Given the description of an element on the screen output the (x, y) to click on. 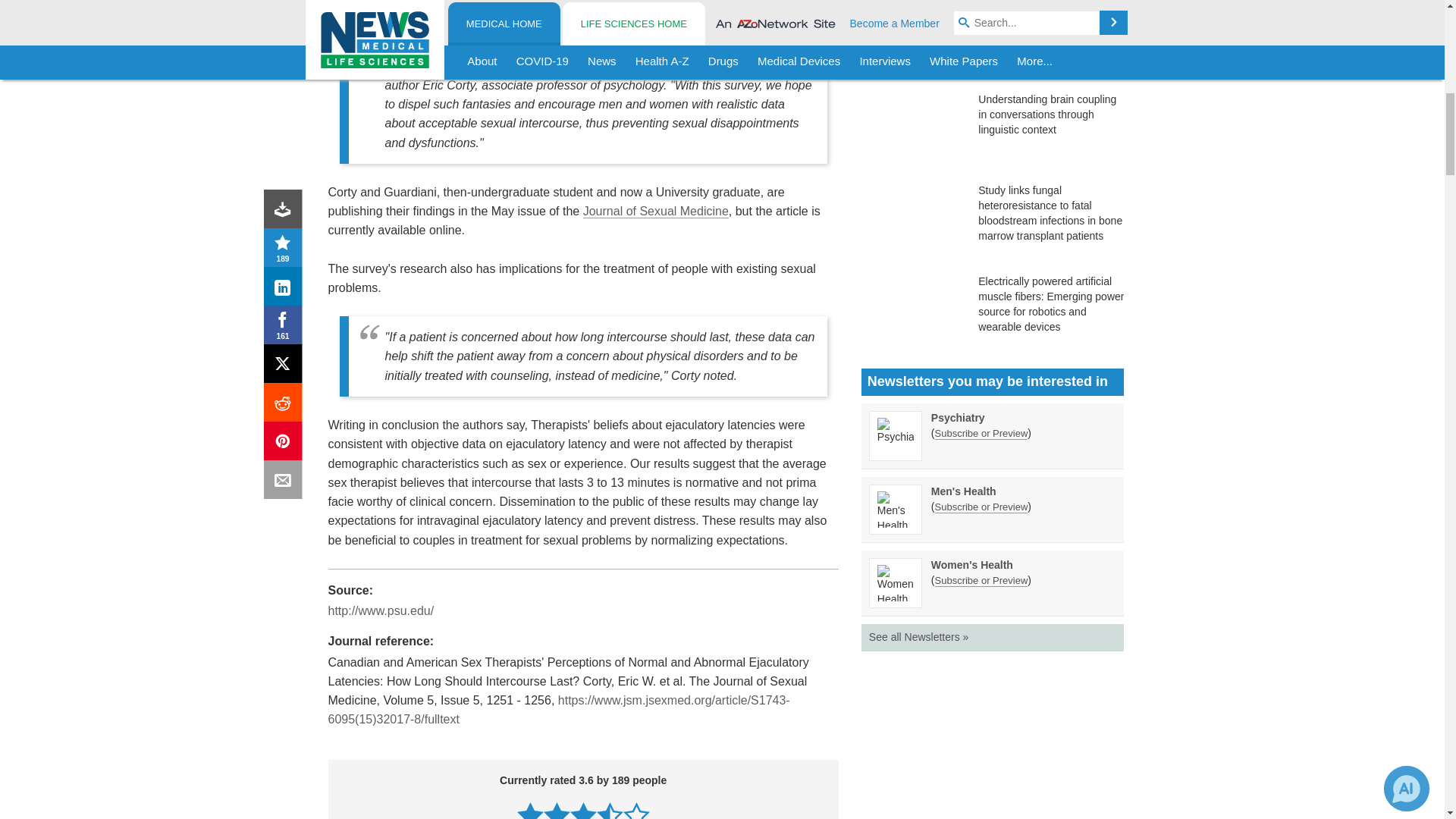
Rate this 5 stars out of 5 (636, 810)
Rate this 4 stars out of 5 (609, 810)
